Given the description of an element on the screen output the (x, y) to click on. 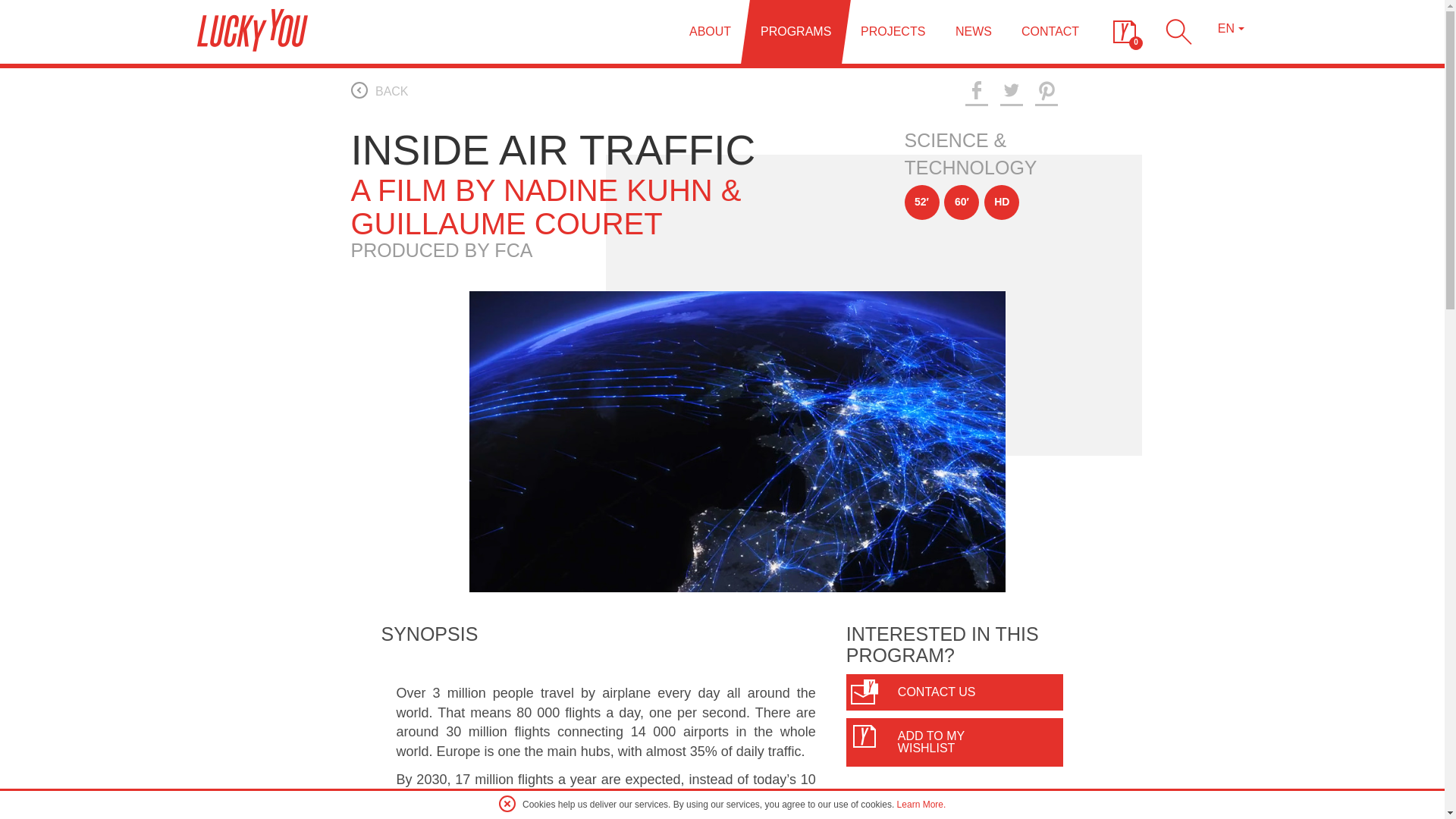
EN (1230, 28)
BACK (378, 89)
ADD TO MY WISHLIST (954, 742)
CONTACT (1045, 31)
ABOUT (705, 31)
PROJECTS (888, 31)
PROGRAMS (791, 31)
NEWS (969, 31)
0 (1124, 31)
Lucky You (311, 634)
Lucky You (251, 30)
CONTACT US (954, 692)
